Given the description of an element on the screen output the (x, y) to click on. 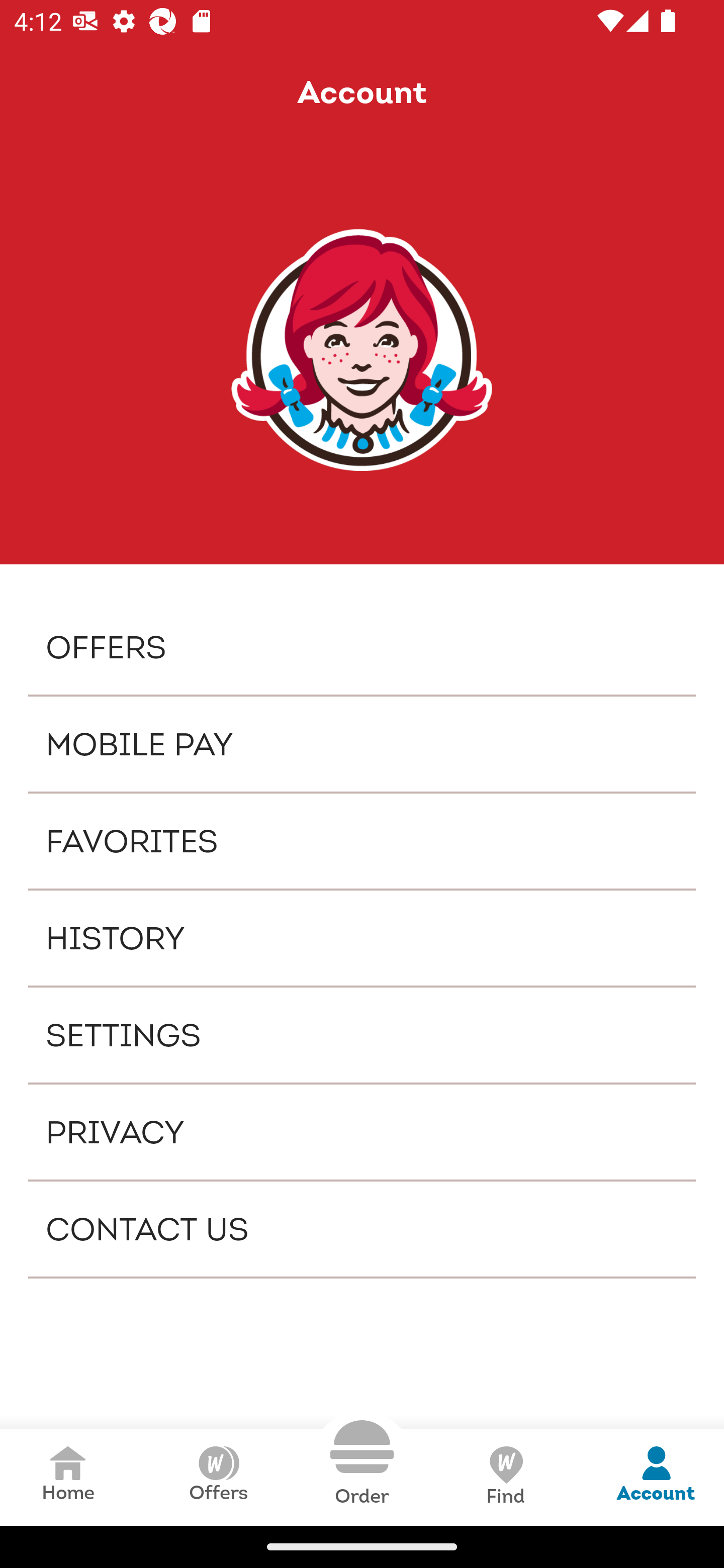
OFFERS Offers,1 of 8 (361, 646)
MOBILE PAY Mobile Pay,2 of 8 (361, 743)
FAVORITES Favorites,3 of 8 (361, 841)
HISTORY History,5 of 8 (361, 938)
SETTINGS Settings,6 of 8 (361, 1034)
PRIVACY Privacy,7 of 8 (361, 1132)
CONTACT US contact us,8 of 8 (361, 1229)
Order,3 of 5 Order (361, 1463)
Home,1 of 5 Home (68, 1476)
Rewards,2 of 5 Offers Offers (218, 1476)
Scan,4 of 5 Find Find (505, 1476)
Account,5 of 5 Account (655, 1476)
